Given the description of an element on the screen output the (x, y) to click on. 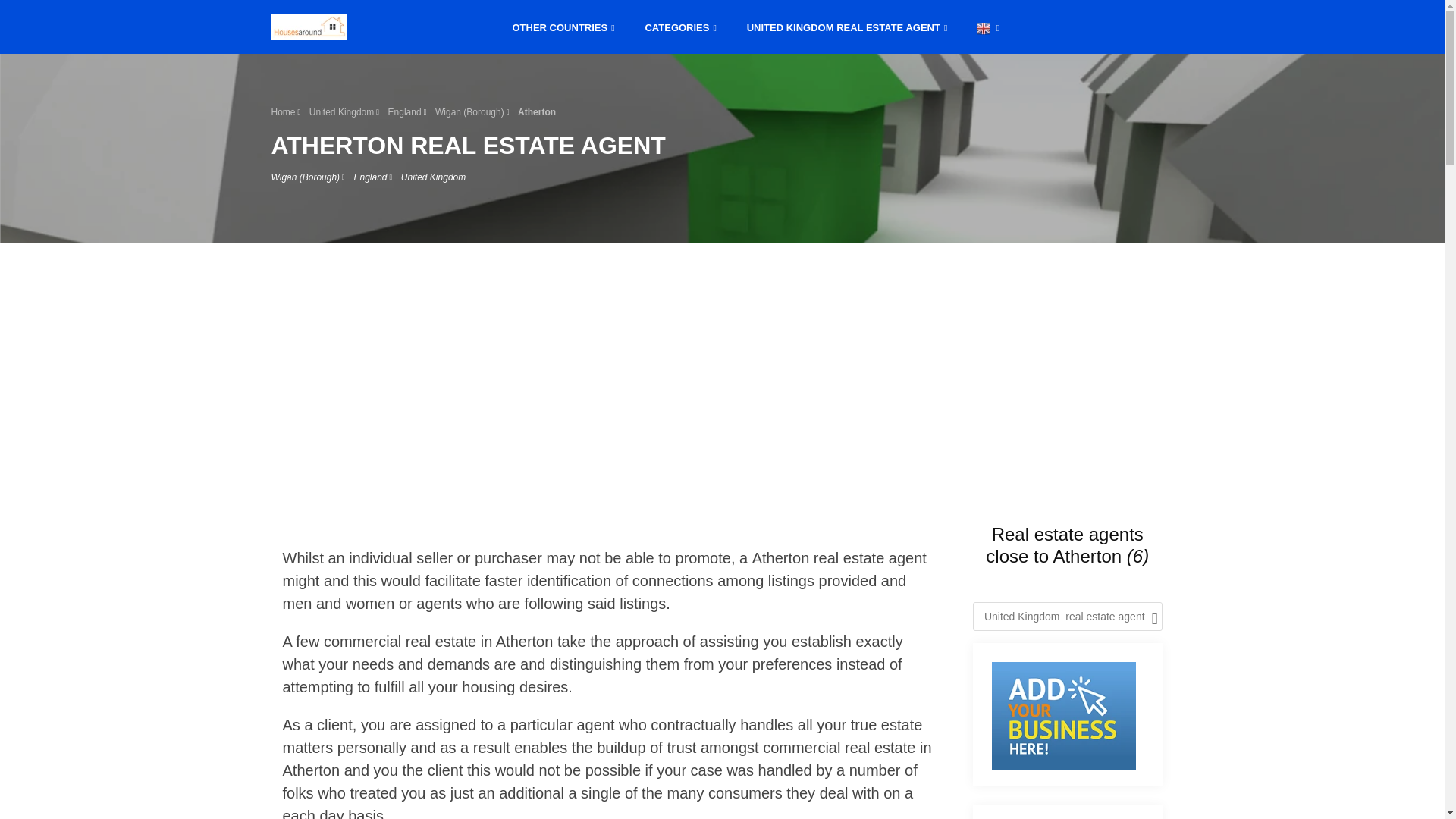
OTHER COUNTRIES (563, 25)
UNITED KINGDOM REAL ESTATE AGENT (846, 25)
CATEGORIES (679, 25)
